Given the description of an element on the screen output the (x, y) to click on. 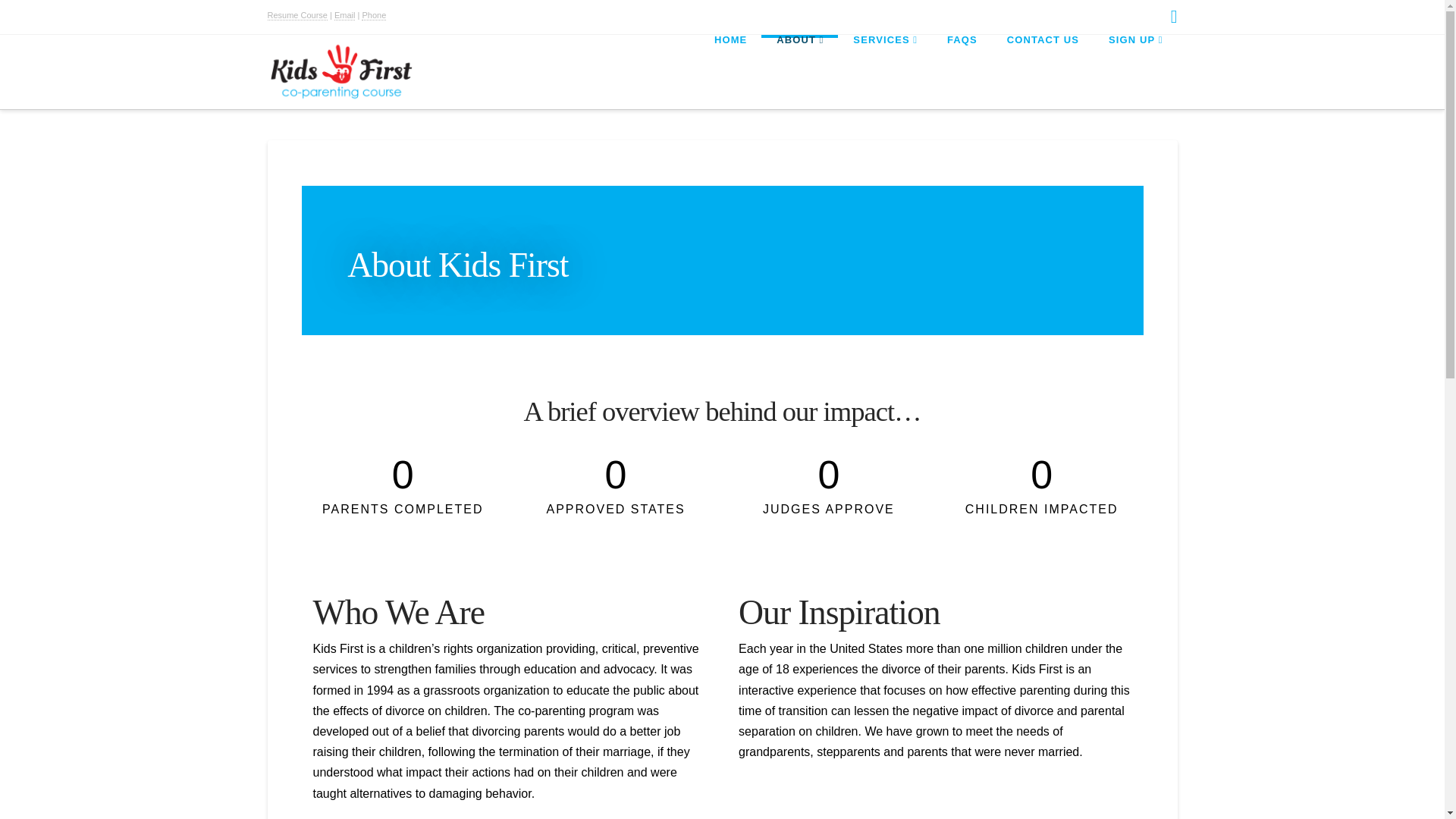
HOME (729, 69)
Resume Course (296, 15)
ABOUT (799, 69)
Email (344, 15)
CONTACT US (1042, 69)
Phone (373, 15)
SIGN UP (1135, 69)
SERVICES (884, 69)
